Given the description of an element on the screen output the (x, y) to click on. 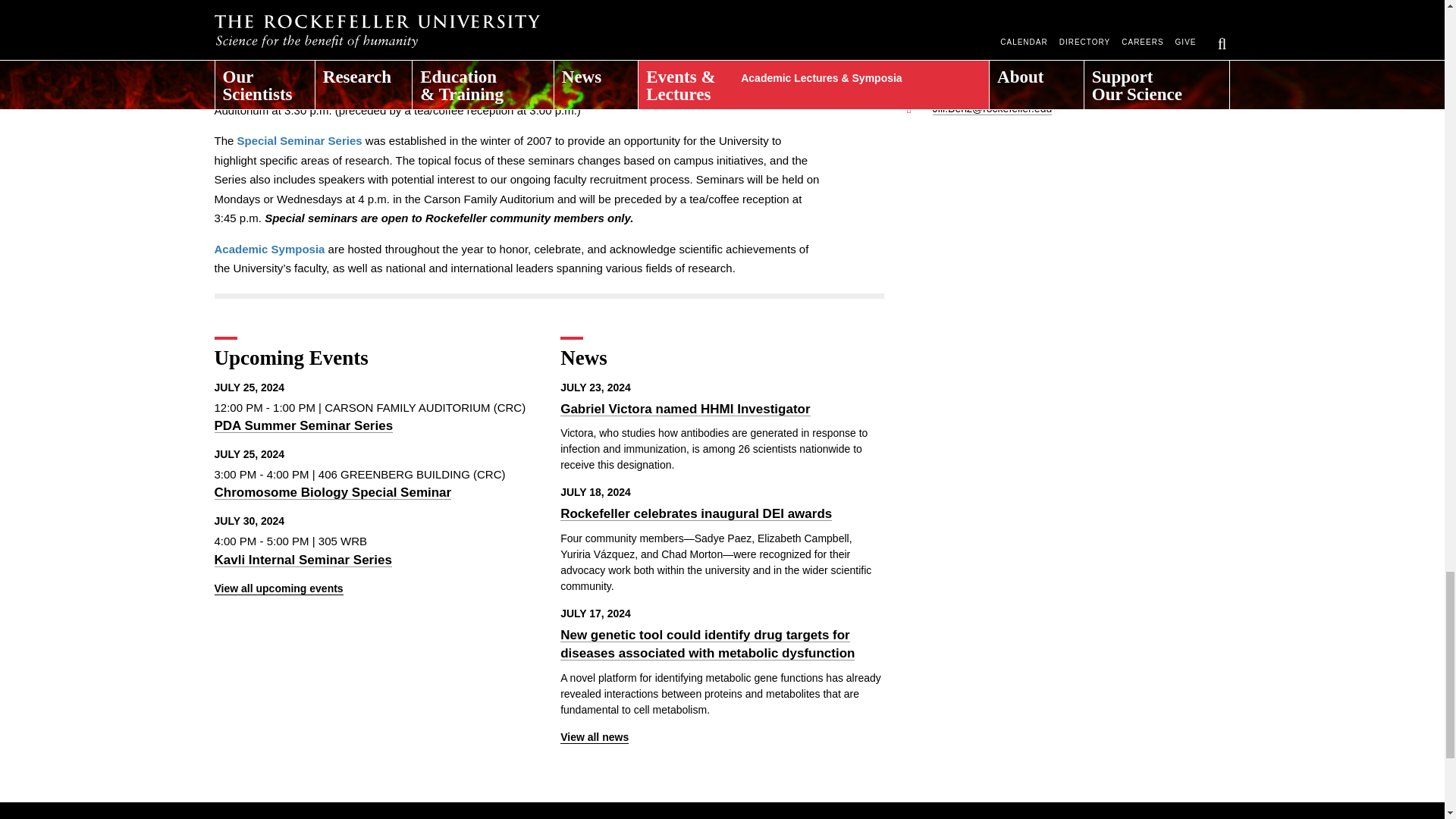
PDA Summer Seminar Series (303, 425)
